Given the description of an element on the screen output the (x, y) to click on. 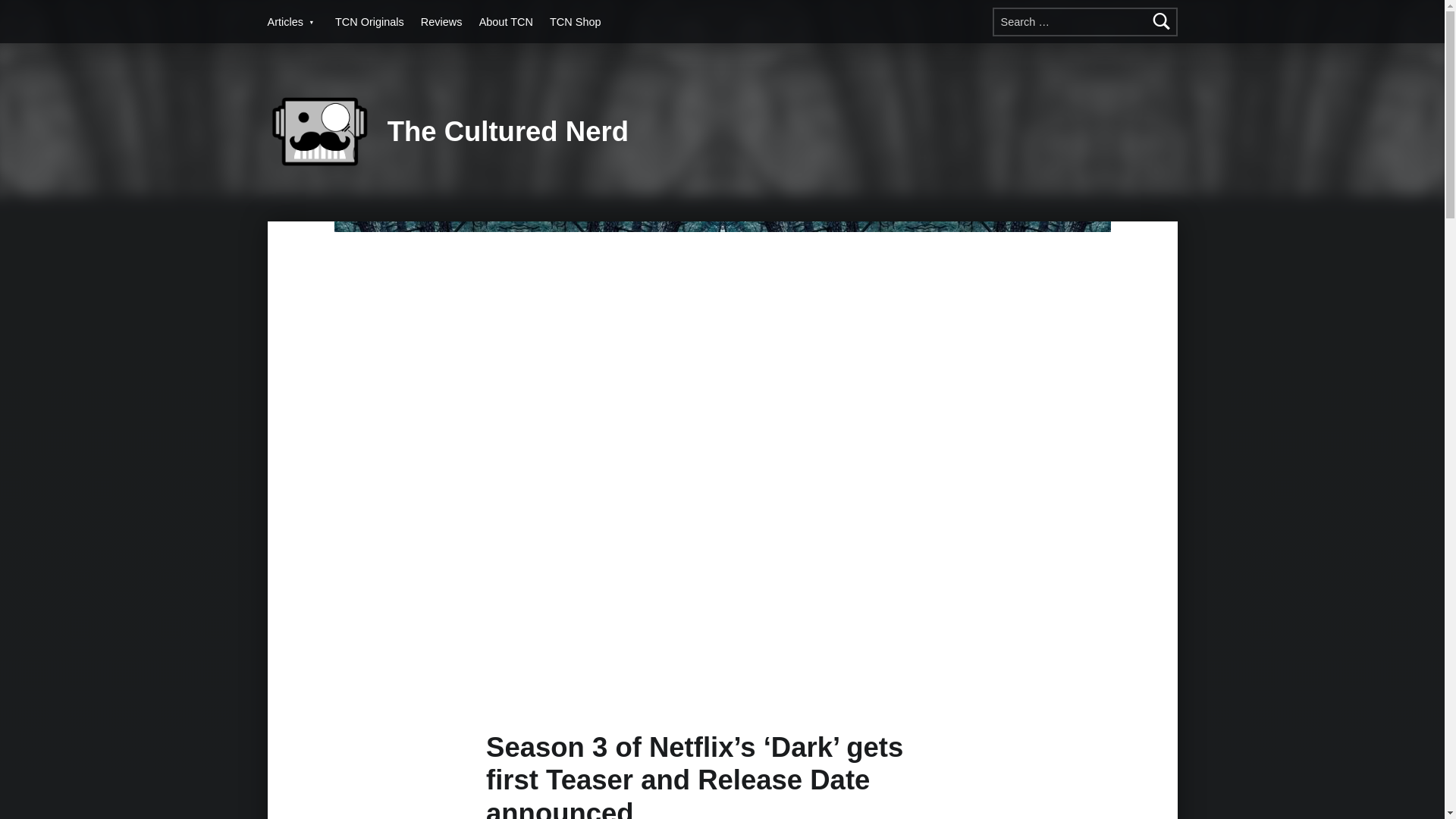
Reviews (441, 21)
TCN Originals (369, 21)
TCN Shop (575, 21)
Search (1162, 21)
Search (1162, 21)
Search (1162, 21)
The Cultured Nerd (507, 131)
Articles (291, 21)
About TCN (505, 21)
